Given the description of an element on the screen output the (x, y) to click on. 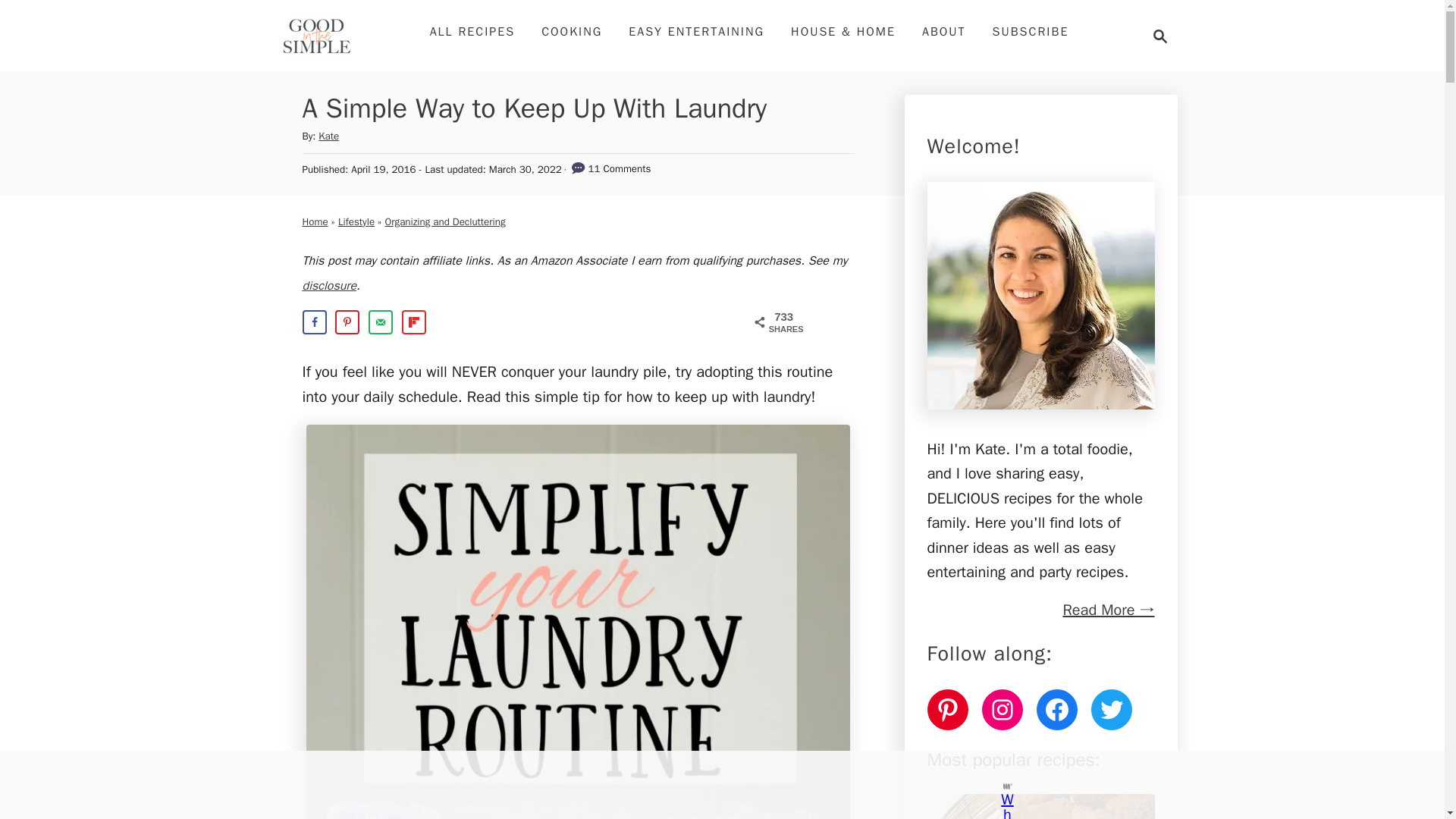
ALL RECIPES (472, 31)
Magnifying Glass (1160, 36)
COOKING (572, 31)
Kate (328, 135)
EASY ENTERTAINING (1155, 36)
Send over email (696, 31)
Organizing and Decluttering (380, 322)
Sweet Potato Muffins (444, 221)
Share on Facebook (1040, 806)
Lifestyle (313, 322)
Save to Pinterest (355, 221)
Share on Flipboard (346, 322)
disclosure (413, 322)
Home (328, 285)
